Given the description of an element on the screen output the (x, y) to click on. 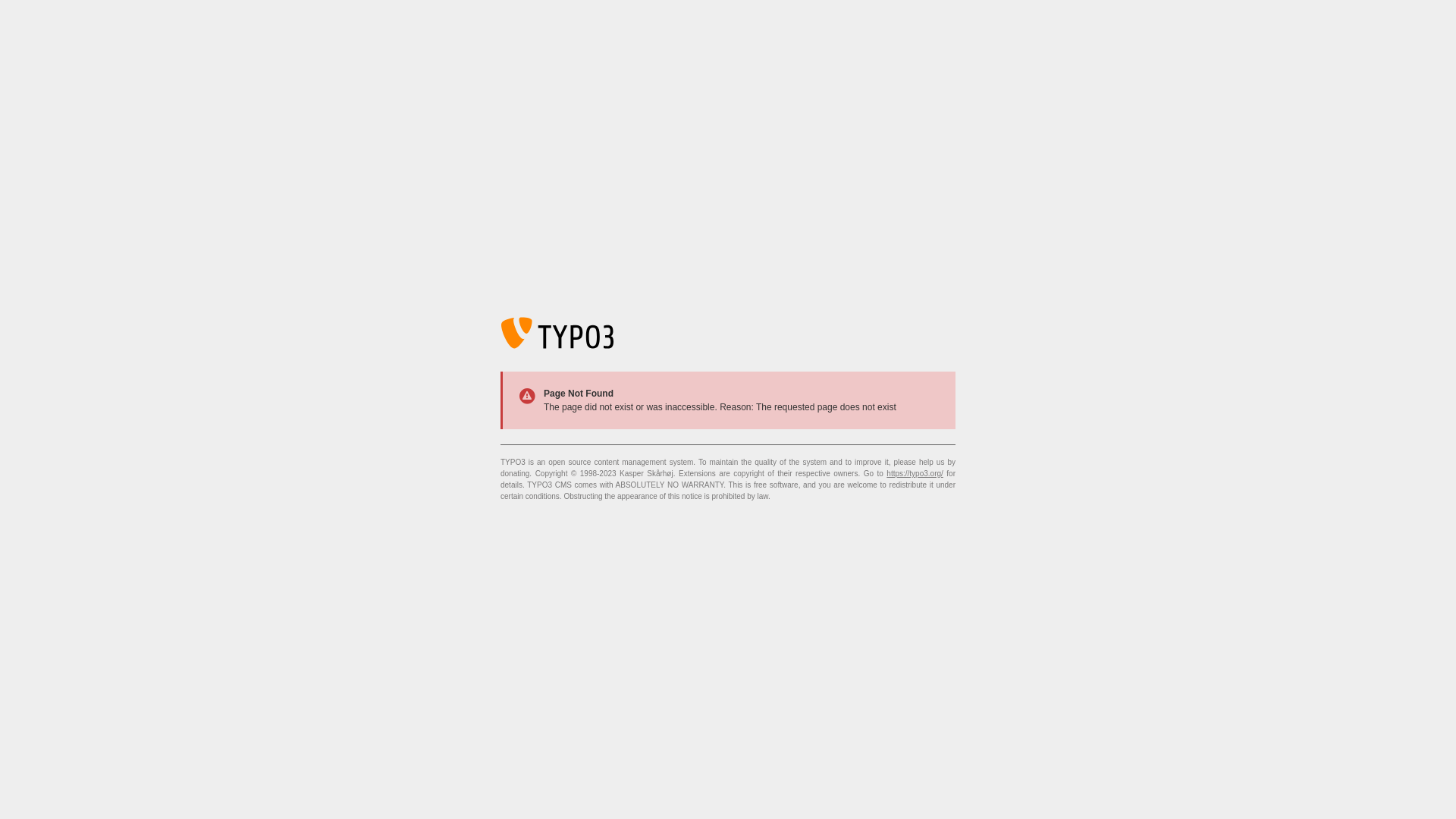
https://typo3.org/ Element type: text (914, 473)
